Given the description of an element on the screen output the (x, y) to click on. 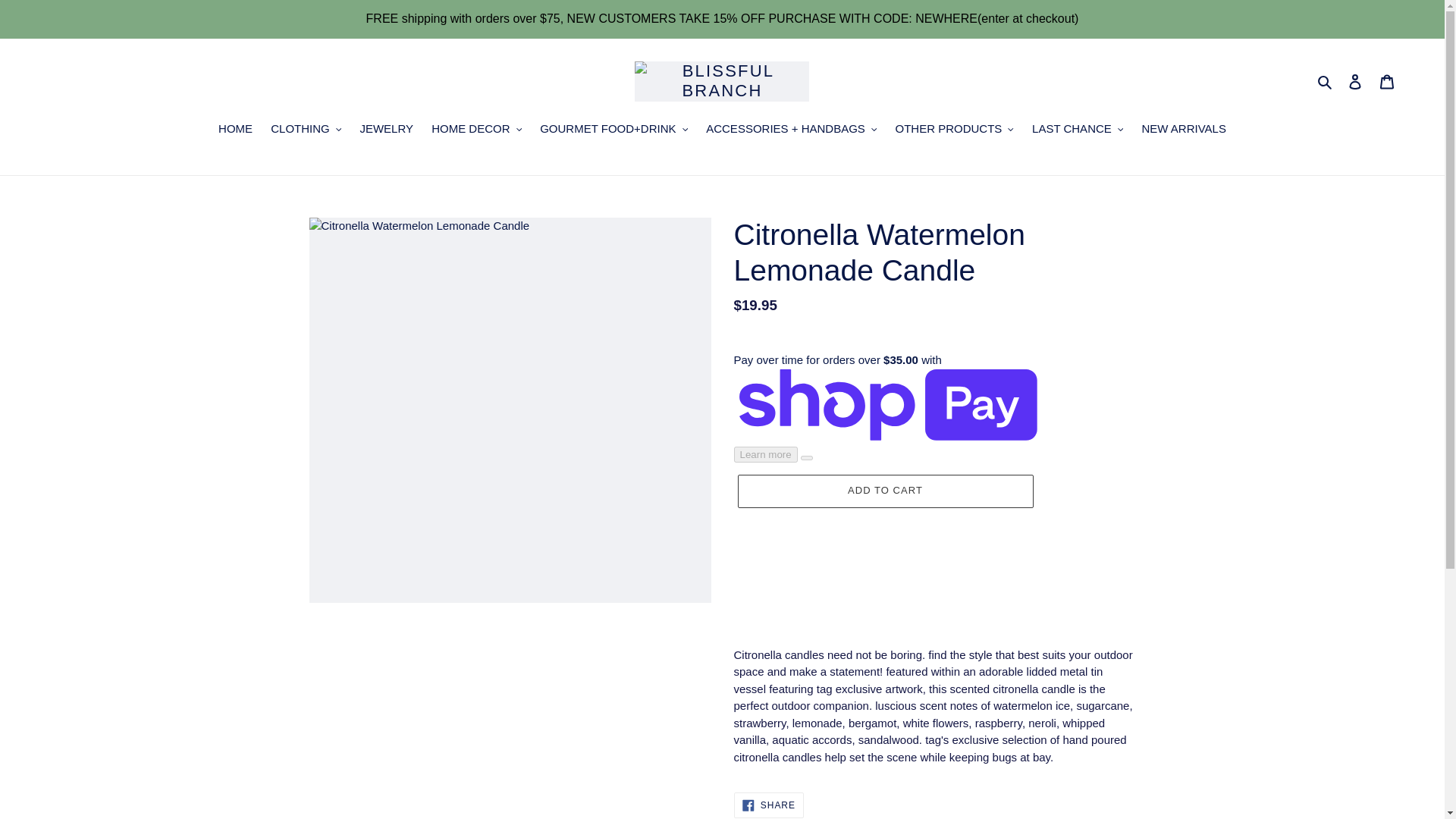
Search (1326, 81)
Log in (1355, 81)
Cart (1387, 81)
